Given the description of an element on the screen output the (x, y) to click on. 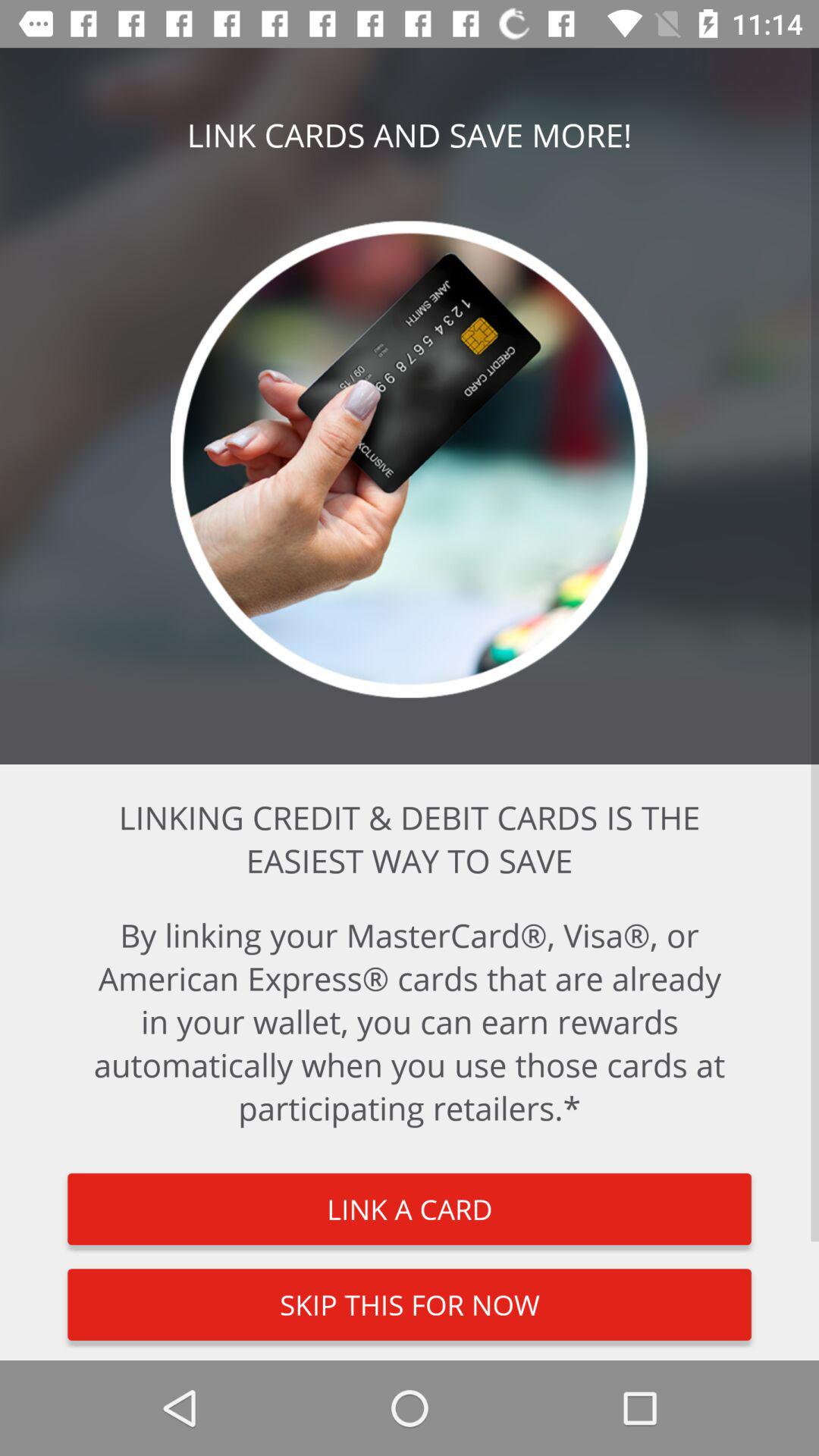
turn on item below by linking your item (409, 1208)
